Given the description of an element on the screen output the (x, y) to click on. 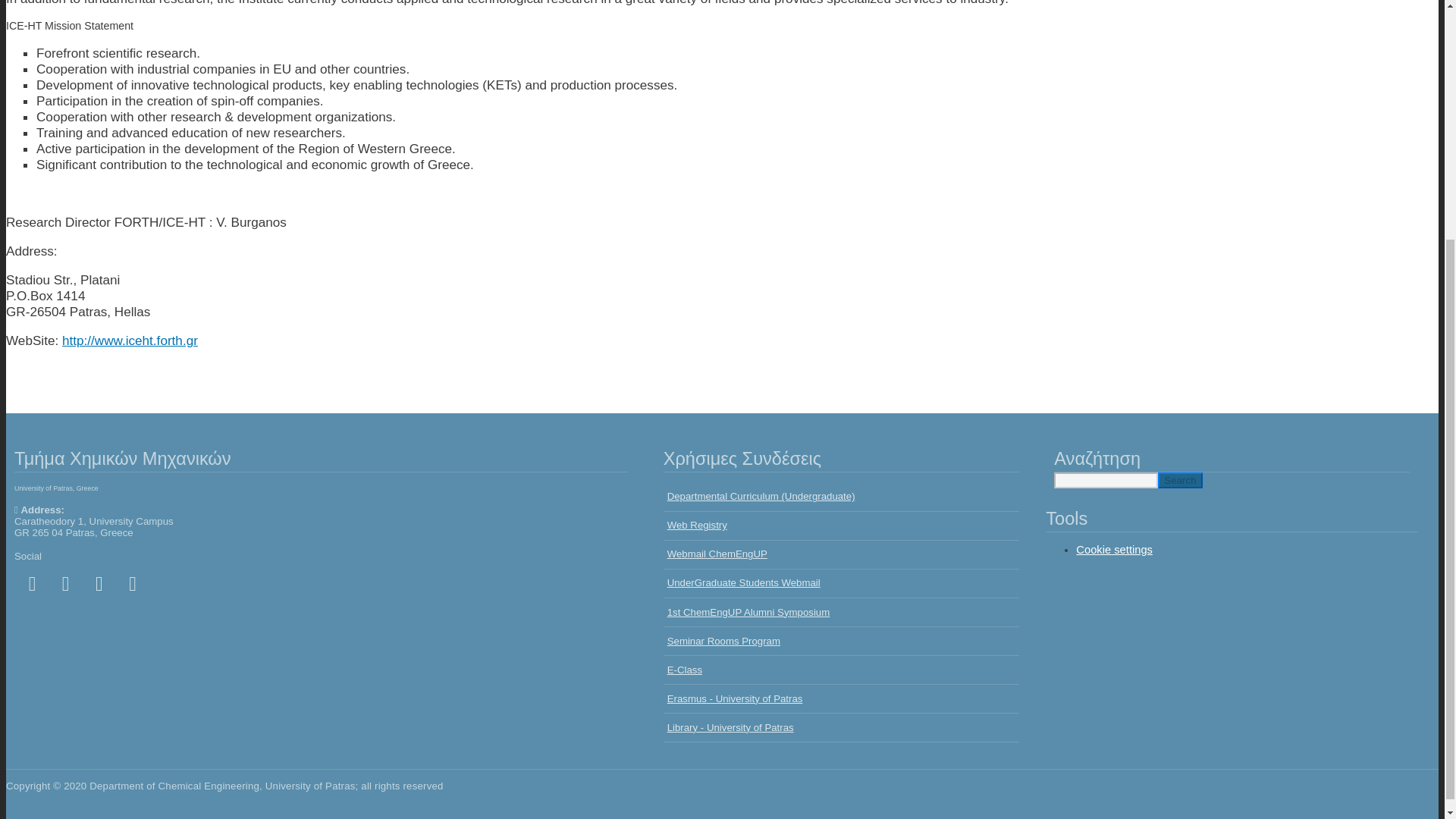
Toggle the cookie consent settings tray (1114, 549)
Departmental Curriculum (841, 497)
Enter the terms you wish to search for. (1105, 480)
Seminar Rooms (841, 641)
